Given the description of an element on the screen output the (x, y) to click on. 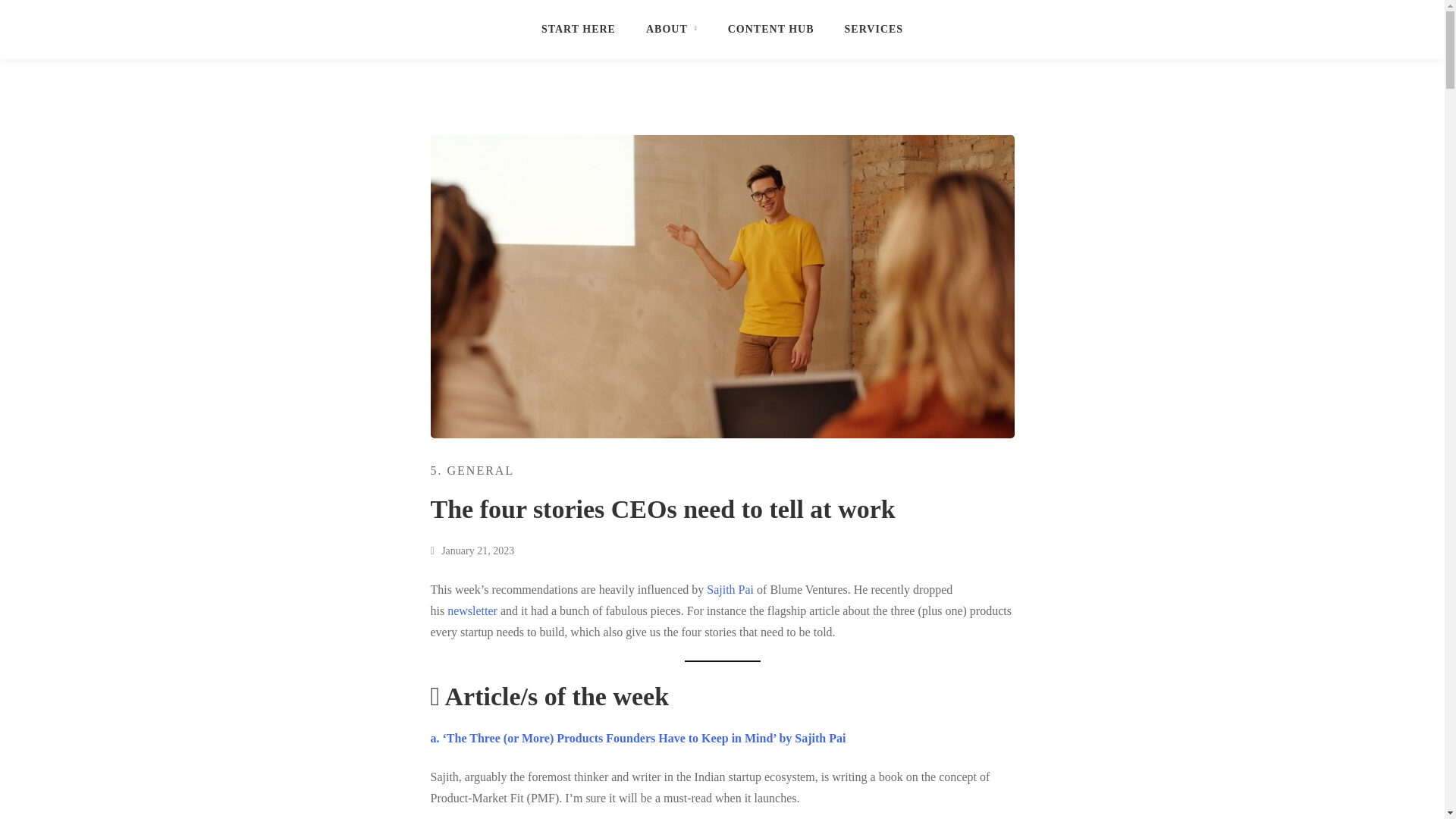
START HERE (577, 29)
ABOUT (671, 29)
newsletter (471, 610)
SERVICES (874, 29)
CONTENT HUB (771, 29)
5. GENERAL (472, 470)
Sajith Pai (730, 589)
